Given the description of an element on the screen output the (x, y) to click on. 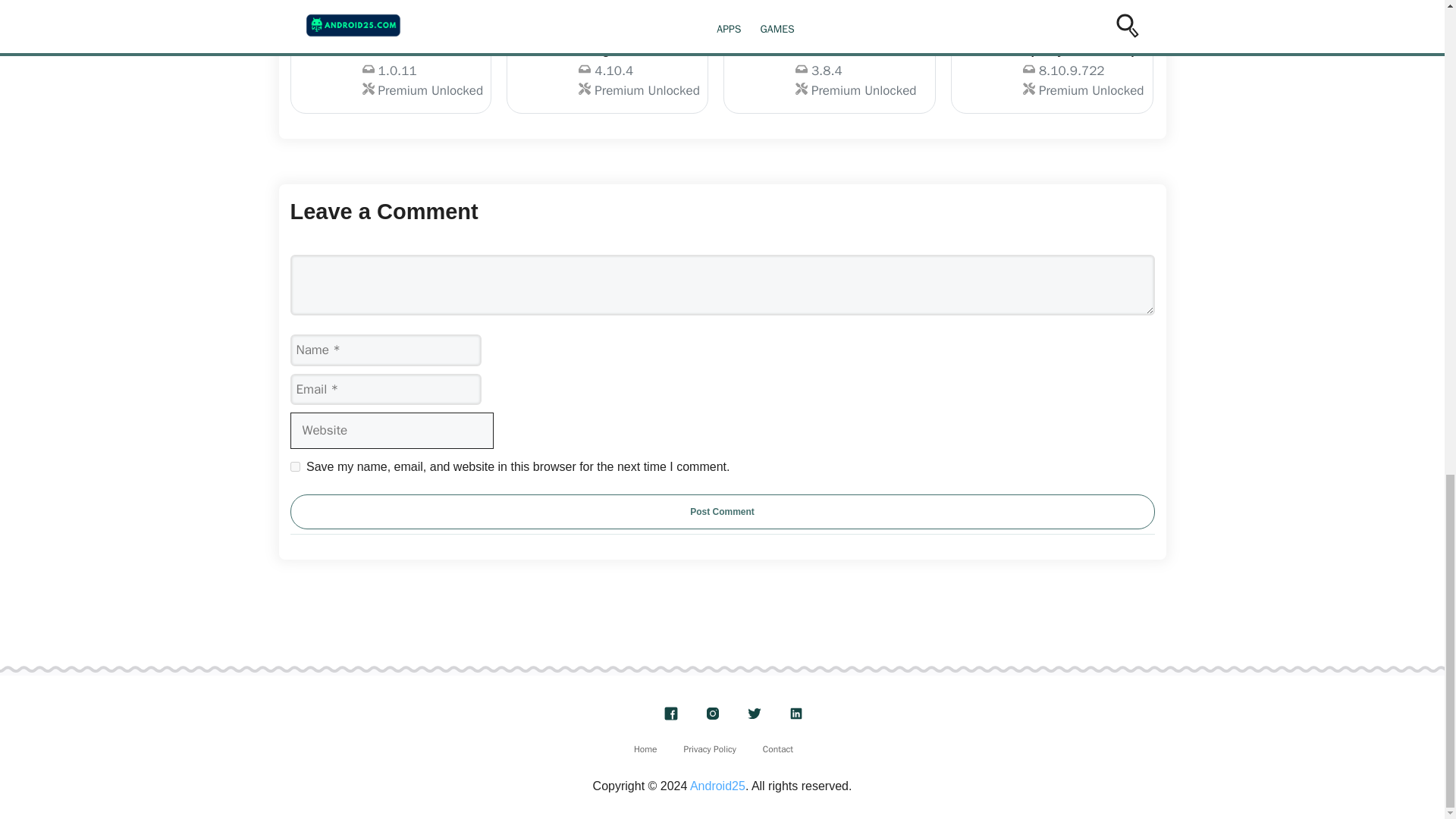
PicsArt Photo Editor (1274, 73)
Privacy Policy (710, 748)
yes (294, 466)
Post Comment (1051, 73)
Contact (390, 73)
Bongo  (829, 73)
Spotify Premium Apk (721, 511)
